Given the description of an element on the screen output the (x, y) to click on. 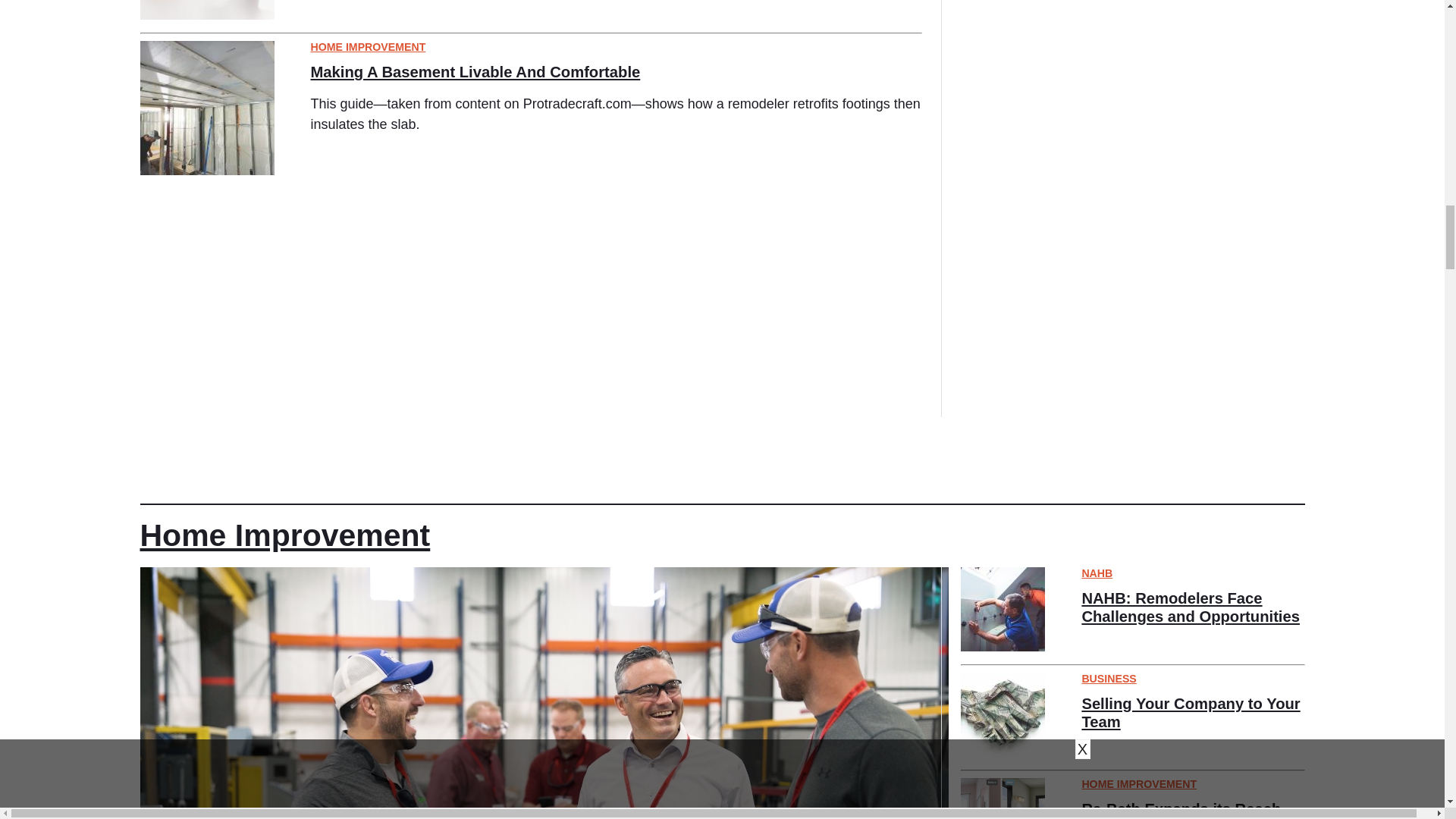
Photo Credit: Adobe  (206, 9)
Adobe Stock Photo (1002, 609)
Photo credit: Re-Bath (1002, 798)
Adobe stock image (1002, 714)
